Given the description of an element on the screen output the (x, y) to click on. 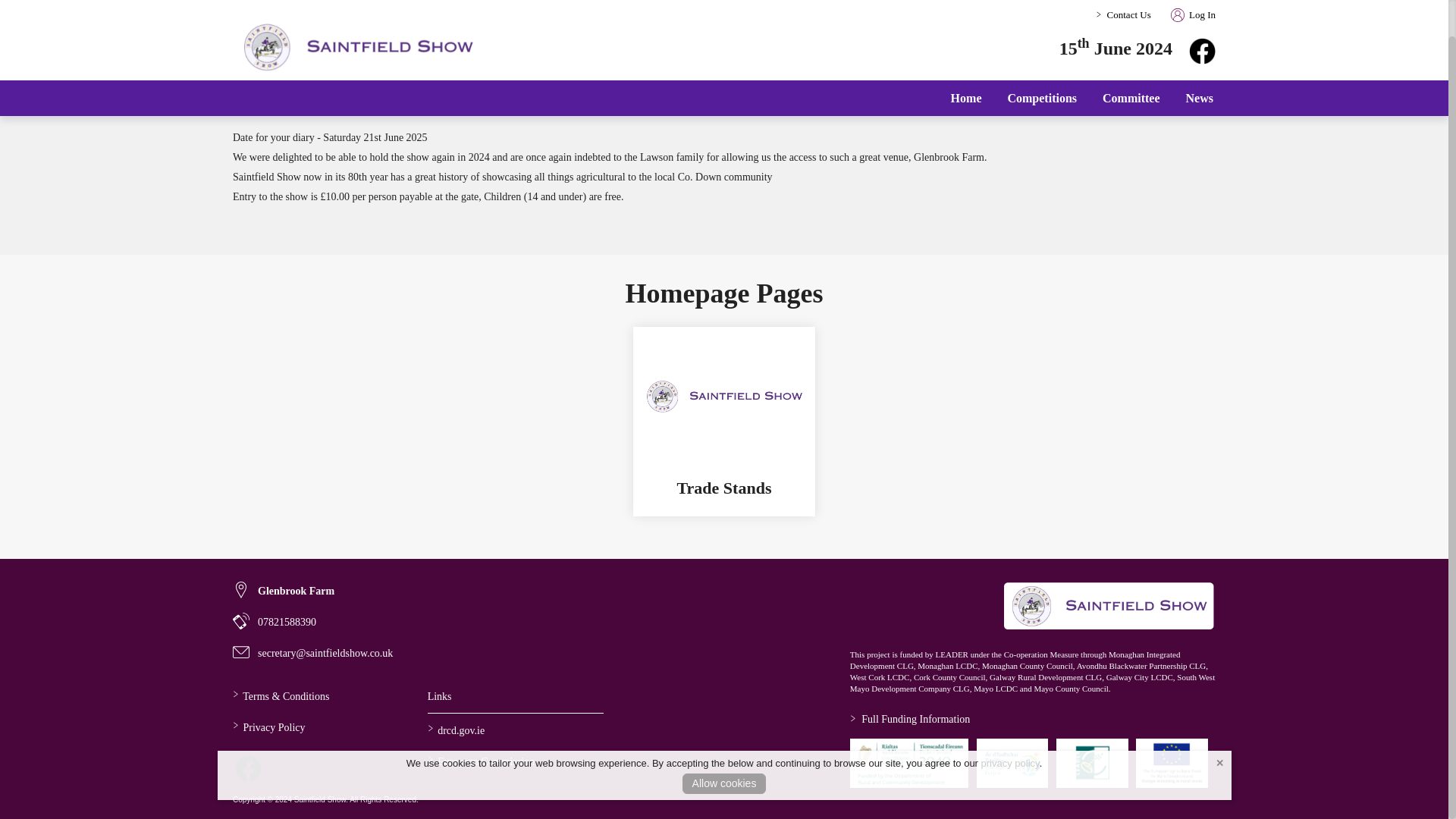
link to facebook (248, 768)
link to Trade Stands (724, 487)
News (1199, 59)
link to homepage (1109, 605)
privacy policy (1010, 725)
07821588390 (273, 621)
Glenbrook Farm (283, 590)
Home (965, 59)
Allow cookies (724, 745)
Trade Stands (724, 487)
